Given the description of an element on the screen output the (x, y) to click on. 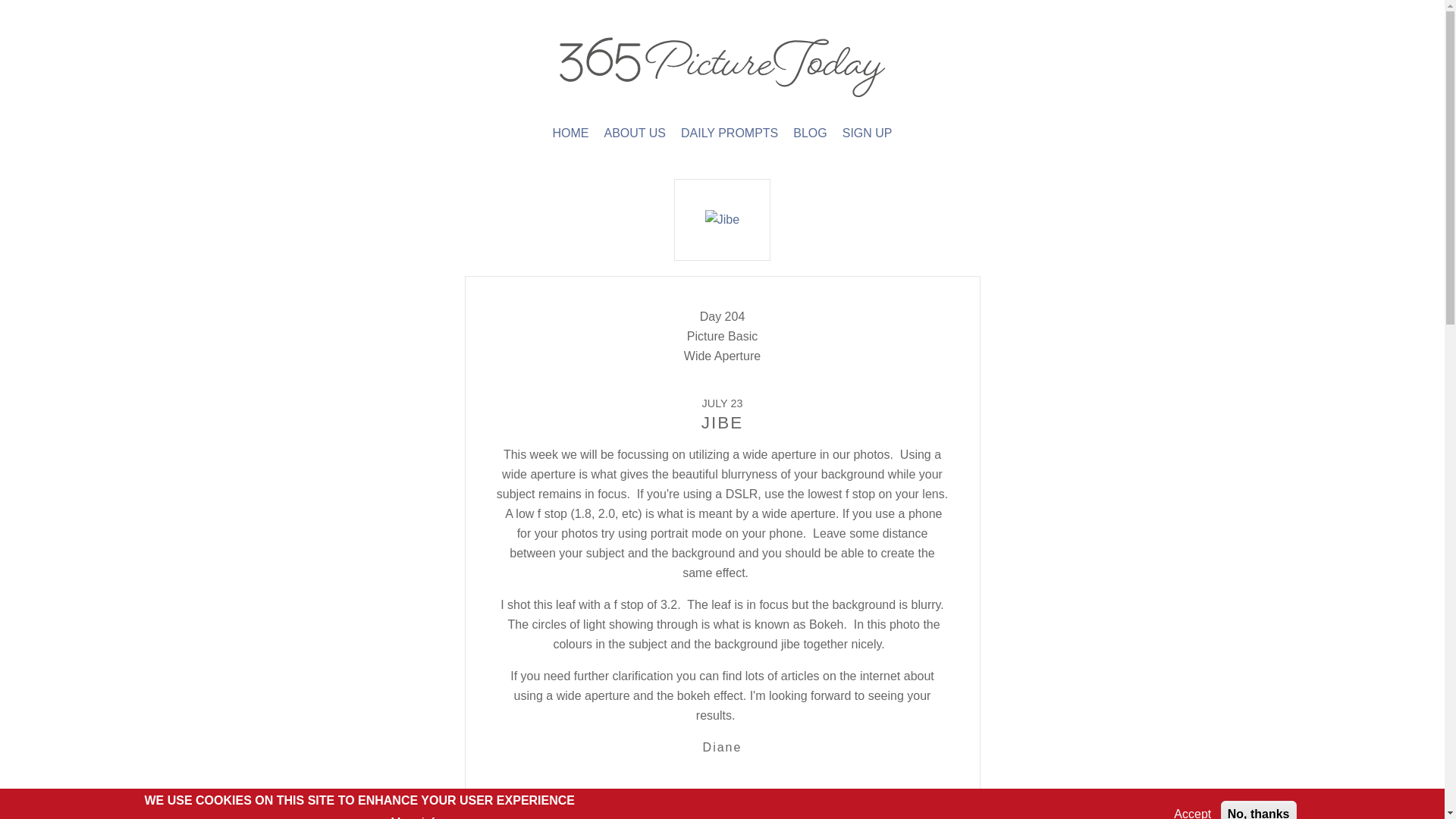
DAILY PROMPTS (729, 133)
HOME (569, 133)
ABOUT US (634, 133)
BLOG (810, 133)
SIGN UP (867, 133)
